Given the description of an element on the screen output the (x, y) to click on. 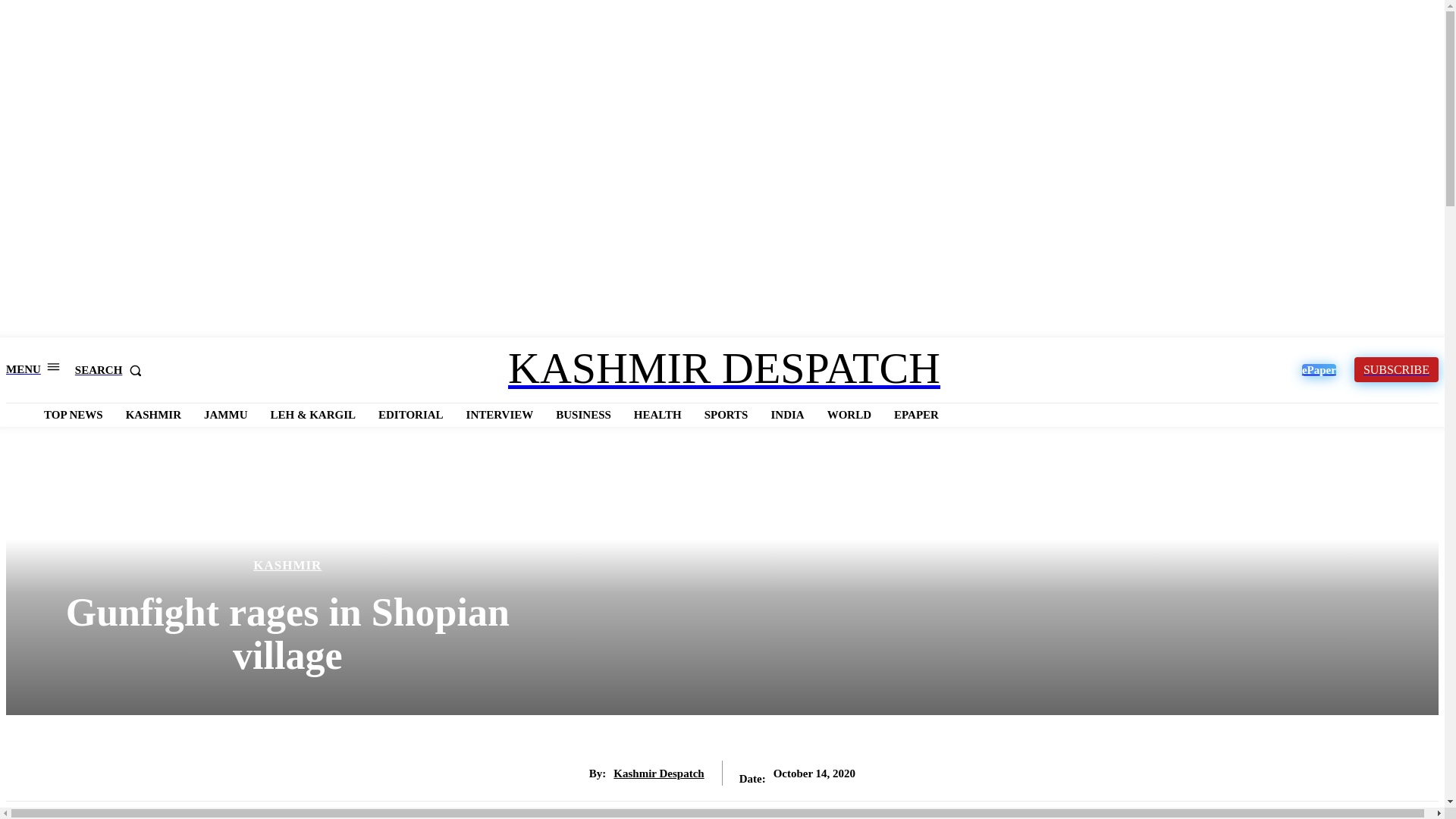
JAMMU (225, 414)
HEALTH (657, 414)
TOP NEWS (73, 414)
EDITORIAL (411, 414)
ePaper (1318, 369)
WORLD (849, 414)
SUBSCRIBE (1396, 369)
SEARCH (111, 369)
KASHMIR DESPATCH (724, 367)
MENU (32, 369)
EPAPER (916, 414)
ePaper (1318, 369)
Kashmir Despatch (657, 773)
INDIA (786, 414)
KASHMIR (153, 414)
